Given the description of an element on the screen output the (x, y) to click on. 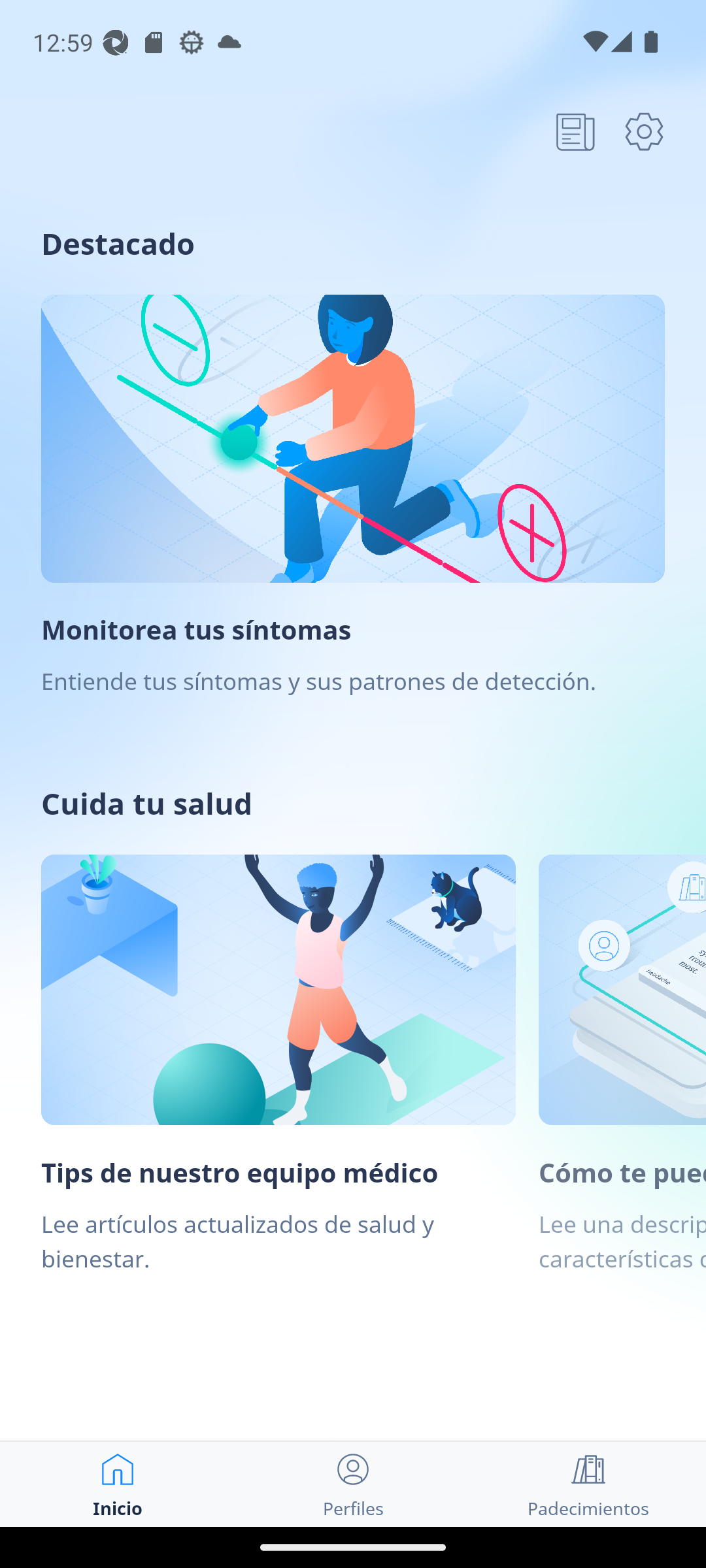
article icon , open articles (574, 131)
settings icon, open settings (644, 131)
Inicio (117, 1484)
Perfiles (352, 1484)
Padecimientos (588, 1484)
